Given the description of an element on the screen output the (x, y) to click on. 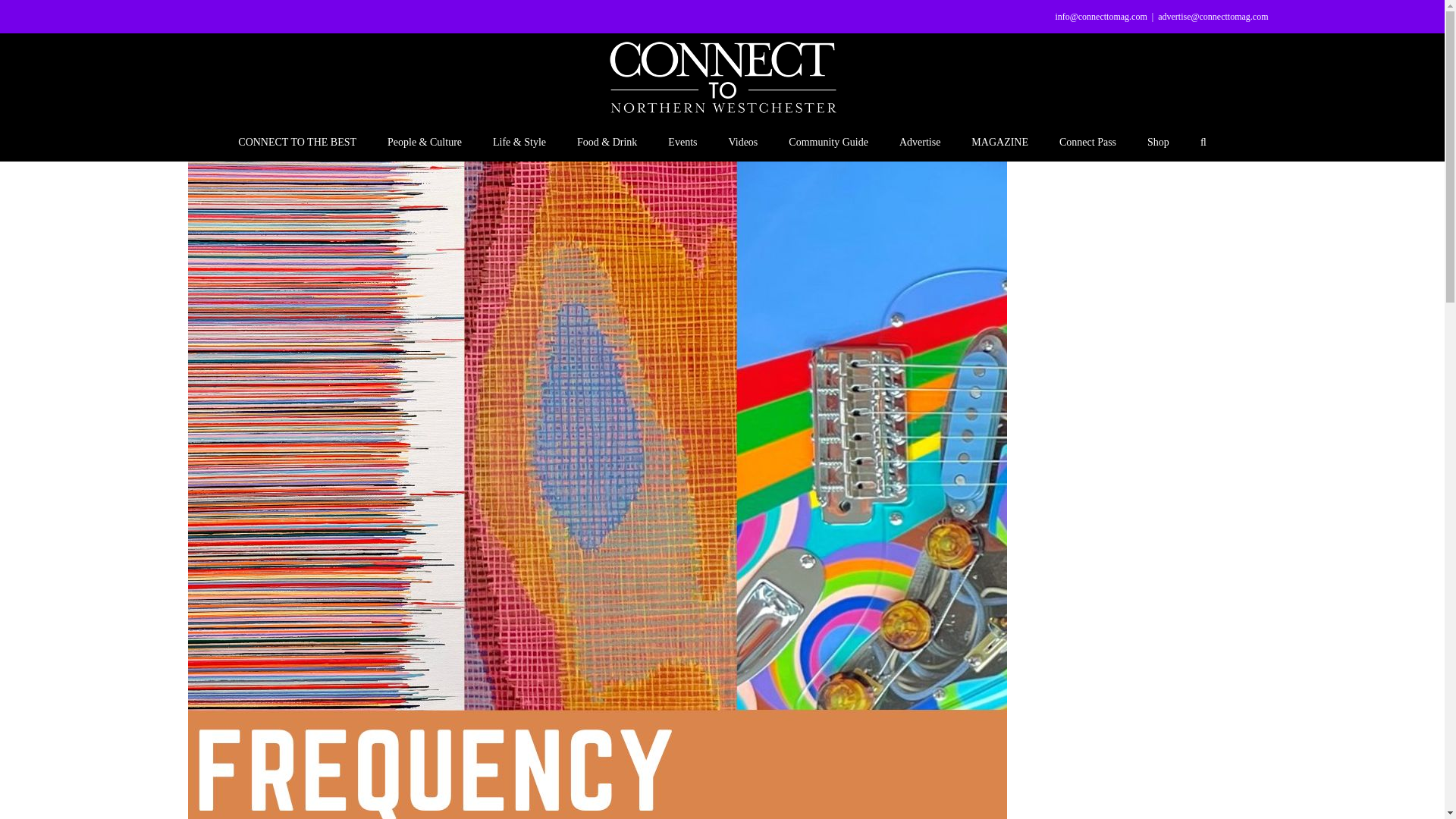
CONNECT TO THE BEST (297, 141)
Community Guide (828, 141)
Videos (742, 141)
Events (682, 141)
Search (1203, 141)
